Given the description of an element on the screen output the (x, y) to click on. 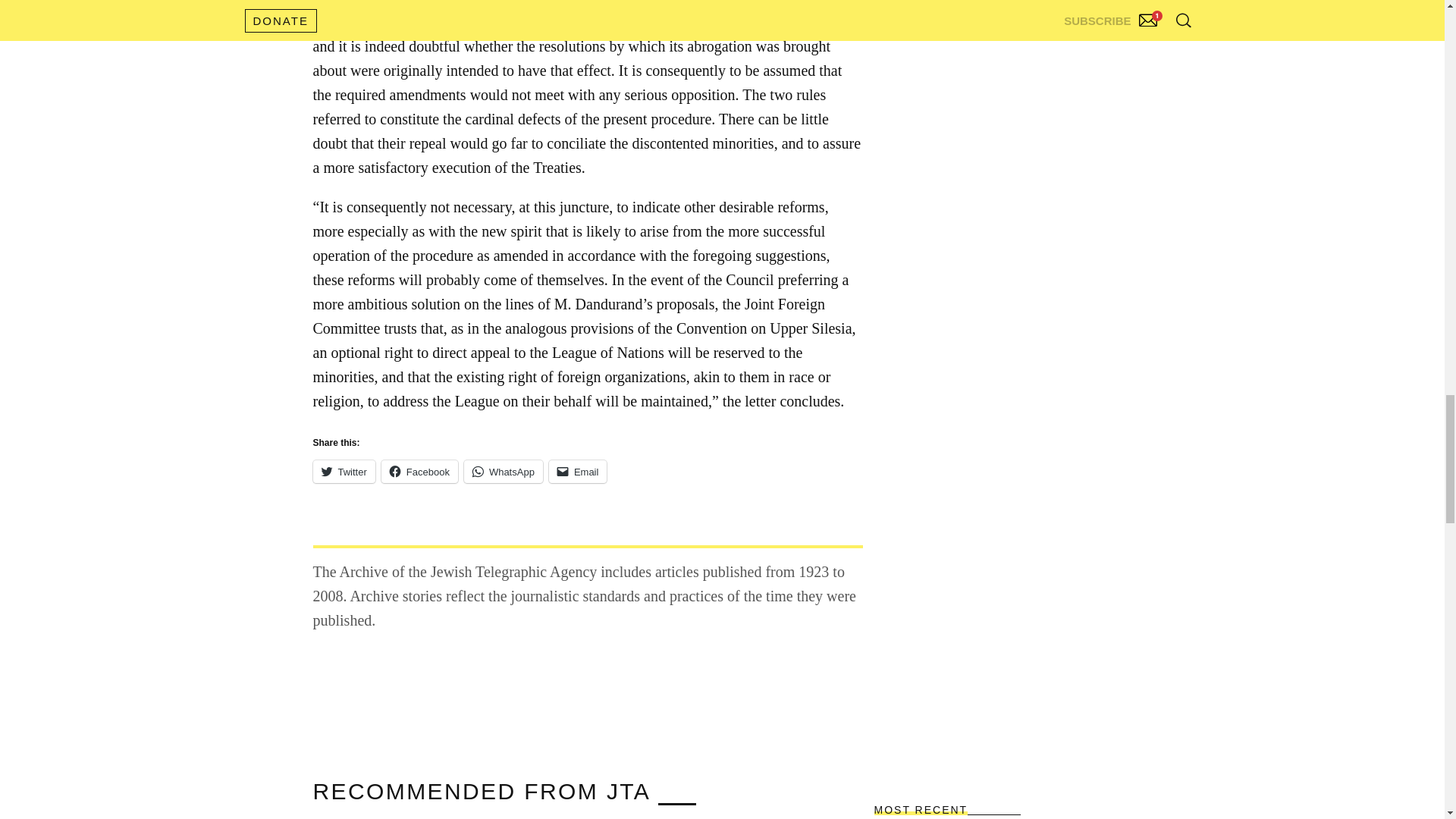
Click to share on Twitter (343, 471)
Click to email a link to a friend (577, 471)
Click to share on Facebook (419, 471)
Click to share on WhatsApp (503, 471)
